Given the description of an element on the screen output the (x, y) to click on. 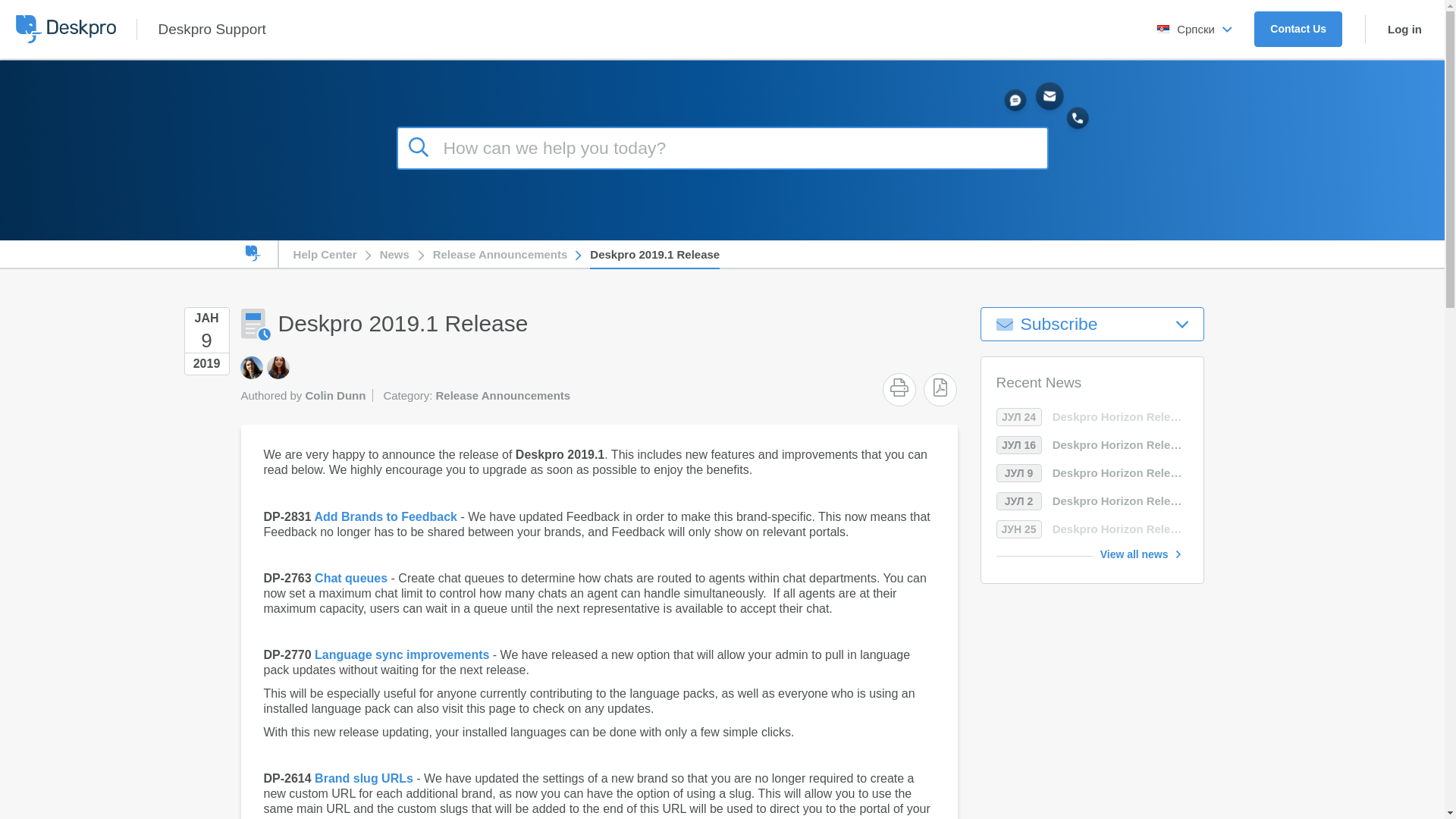
Pdf (940, 387)
Deskpro Support (210, 29)
Grace Howlett (250, 367)
Emily Booth (277, 367)
Colin Dunn (304, 367)
Pdf (940, 387)
Print (898, 387)
Print (898, 387)
